Given the description of an element on the screen output the (x, y) to click on. 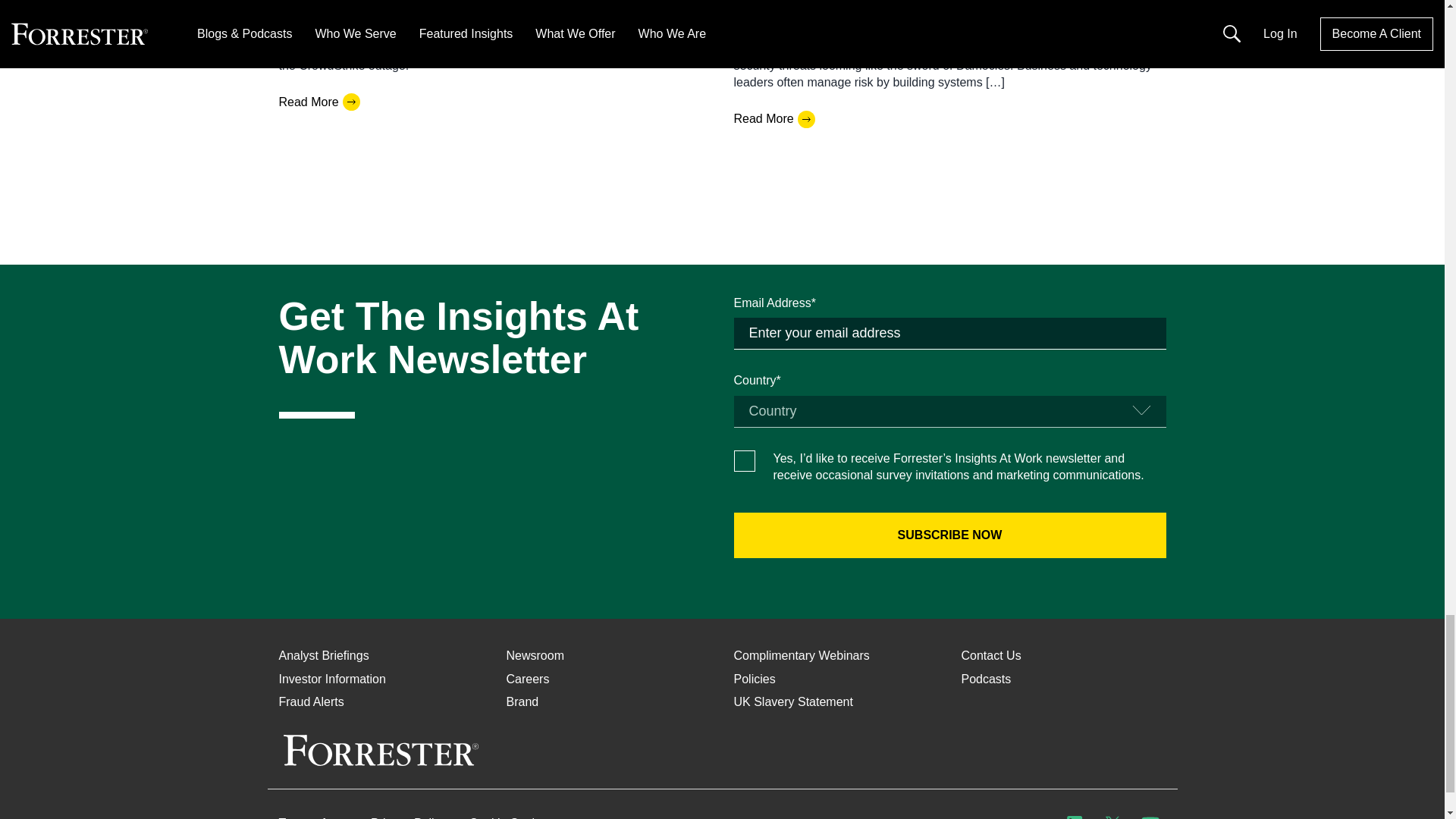
Subscribe Now (949, 534)
